Given the description of an element on the screen output the (x, y) to click on. 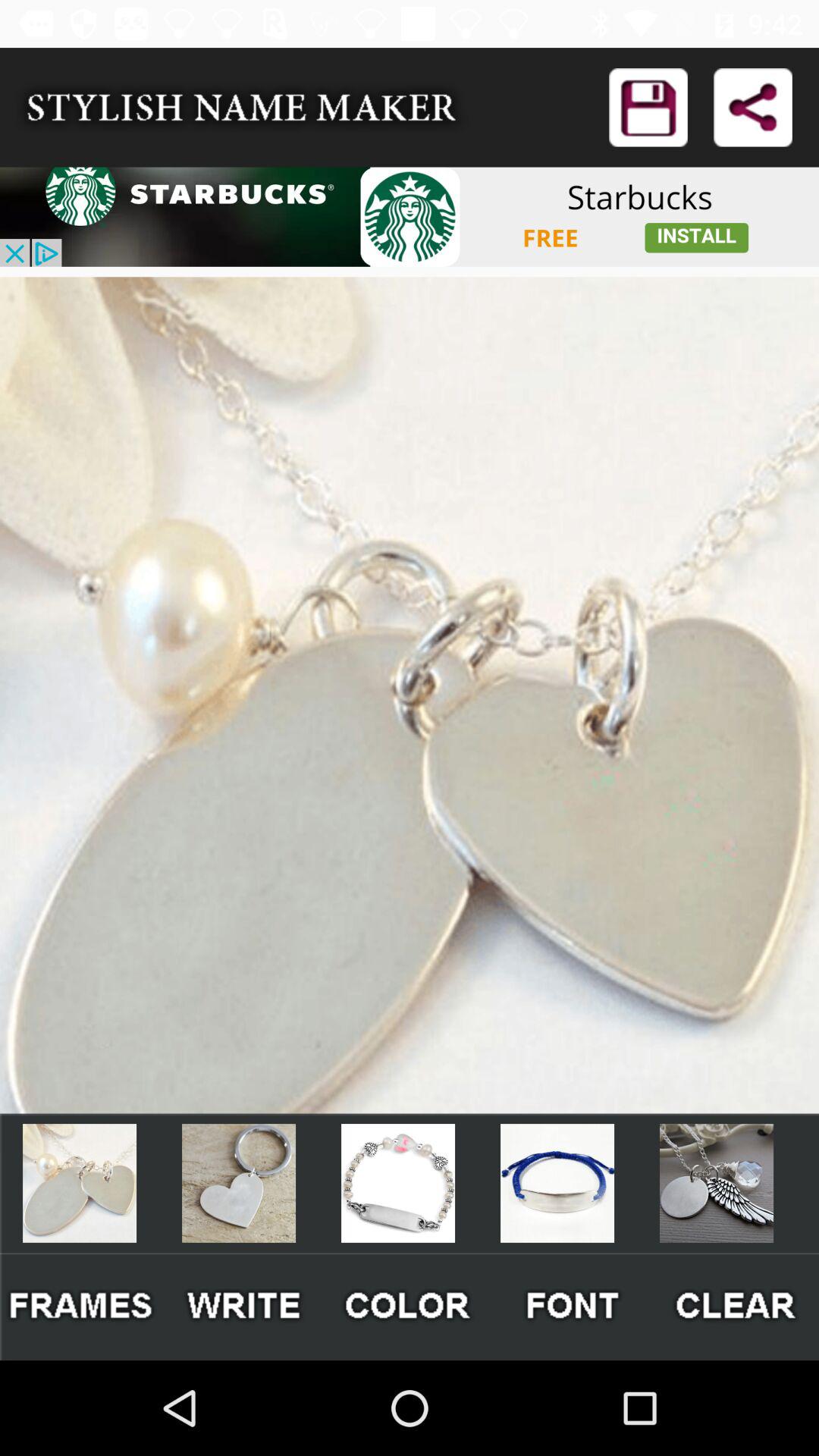
advertisement (409, 216)
